Given the description of an element on the screen output the (x, y) to click on. 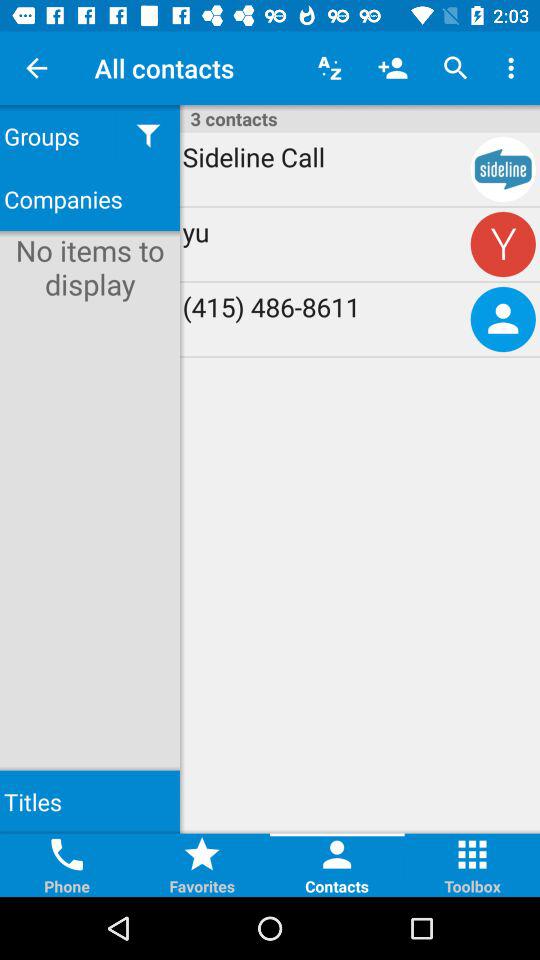
turn on the icon to the left of 3 contacts item (148, 136)
